Given the description of an element on the screen output the (x, y) to click on. 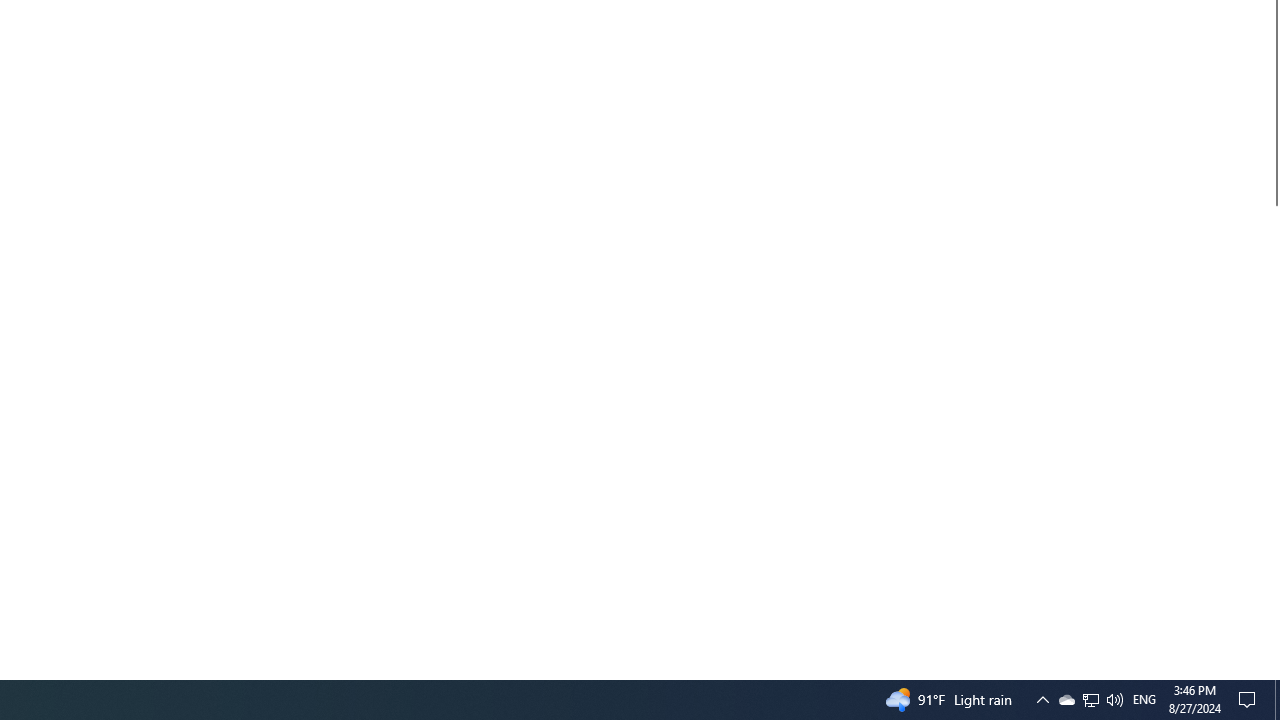
Vertical Large Increase (1272, 434)
Vertical Small Increase (1272, 671)
